Given the description of an element on the screen output the (x, y) to click on. 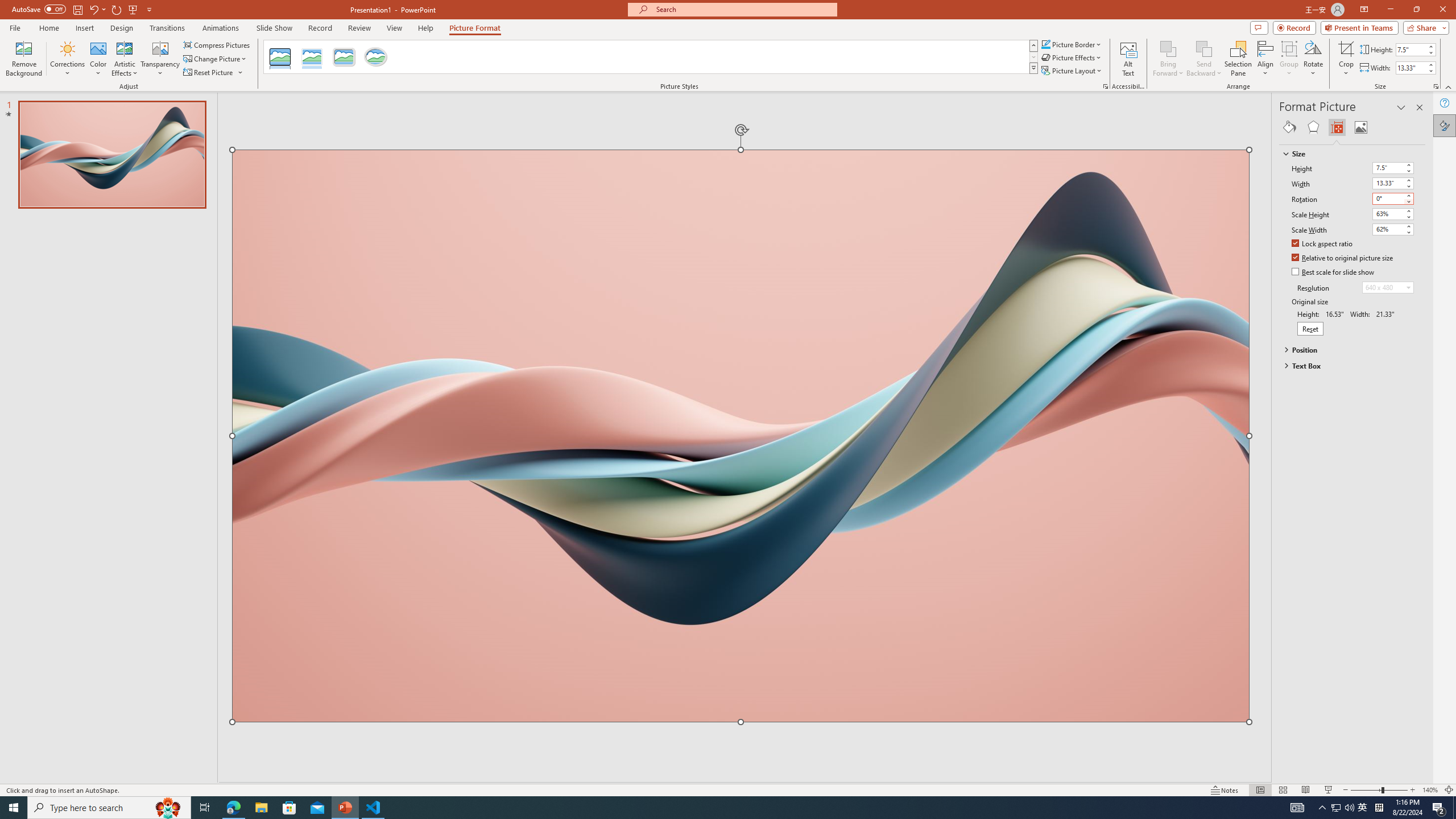
Artistic Effects (124, 58)
Height (1393, 167)
Reset Picture (208, 72)
Picture... (1104, 85)
Class: NetUIGalleryContainer (1352, 126)
Metal Rounded Rectangle (343, 56)
